Given the description of an element on the screen output the (x, y) to click on. 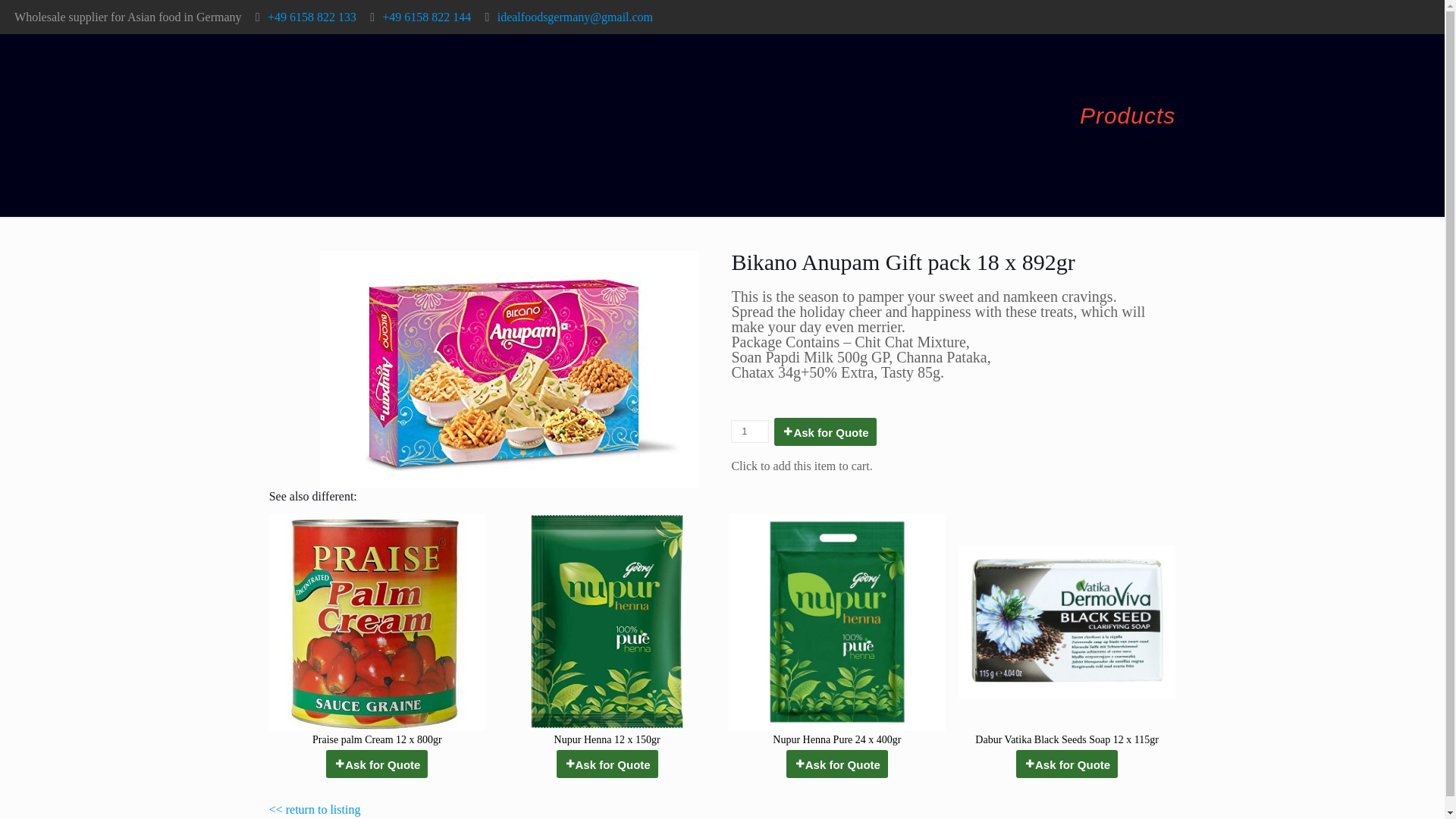
Products (1153, 141)
Ask for Quote (1067, 764)
Ask for Quote (607, 764)
Nupur Henna Pure 24 x 400gr (836, 632)
Ask for Quote (837, 764)
1 (749, 431)
Ask for Quote (377, 764)
Ask for Quote (825, 431)
Nupur Henna 12 x 150gr (606, 632)
Praise palm Cream 12 x 800gr (376, 632)
